Given the description of an element on the screen output the (x, y) to click on. 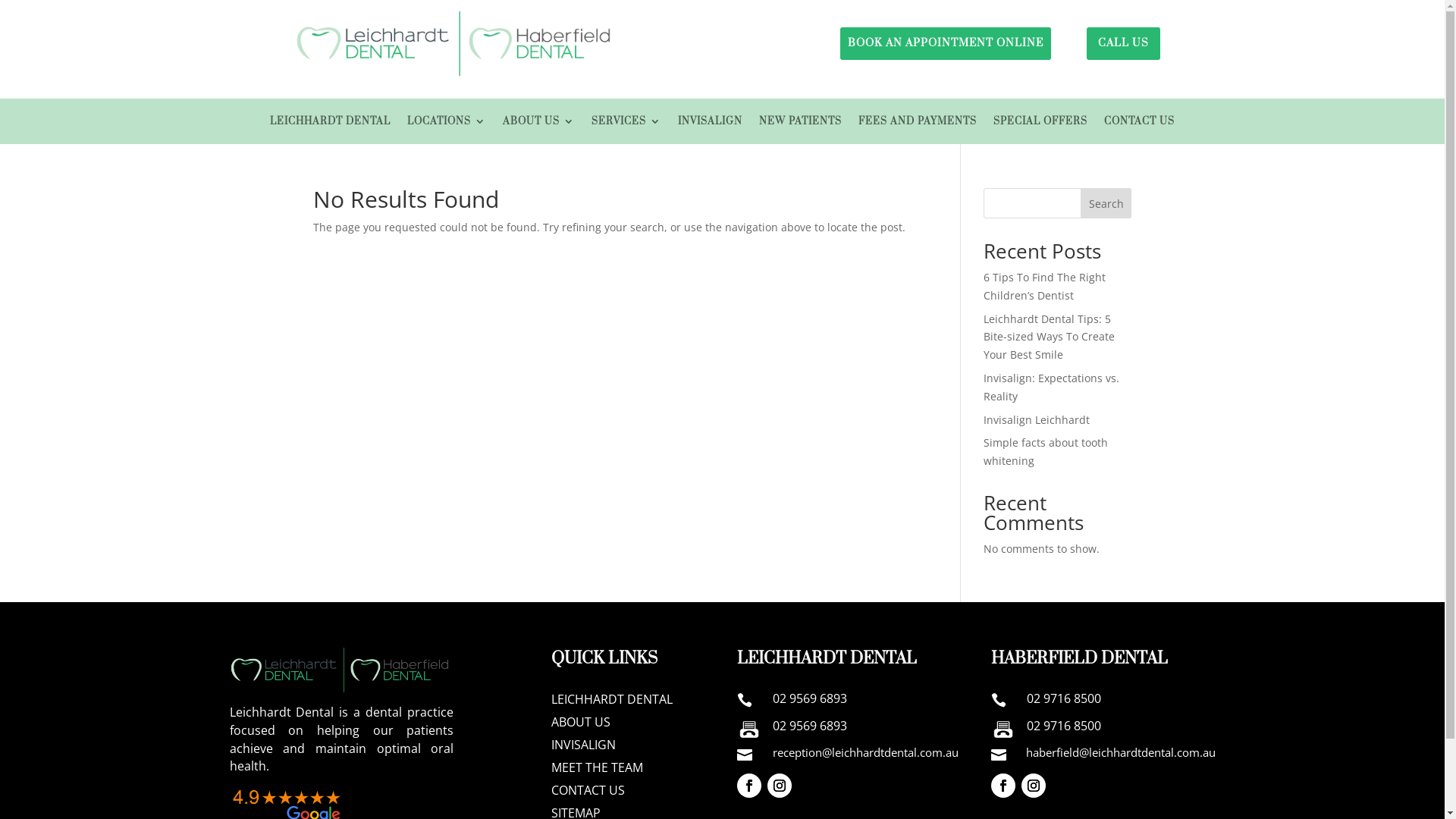
FEES AND PAYMENTS Element type: text (917, 124)
BOOK AN APPOINTMENT ONLINE Element type: text (945, 43)
LOCATIONS Element type: text (446, 124)
ABOUT US Element type: text (538, 124)
Follow on Facebook Element type: hover (1003, 785)
Follow on Facebook Element type: hover (749, 785)
Search Element type: text (1106, 203)
LEICHHARDT DENTAL Element type: text (329, 124)
Invisalign Leichhardt Element type: text (1036, 419)
Invisalign: Expectations vs. Reality Element type: text (1051, 386)
CONTACT US Element type: text (629, 792)
MEET THE TEAM Element type: text (629, 770)
SPECIAL OFFERS Element type: text (1040, 124)
Follow on Instagram Element type: hover (779, 785)
Leichhardt-new-logo-div_1 Element type: hover (341, 669)
CONTACT US Element type: text (1139, 124)
INVISALIGN Element type: text (709, 124)
CALL US Element type: text (1122, 43)
LEICHHARDT DENTAL Element type: text (629, 701)
Simple facts about tooth whitening Element type: text (1045, 451)
SERVICES Element type: text (626, 124)
Follow on Instagram Element type: hover (1033, 785)
NEW PATIENTS Element type: text (800, 124)
INVISALIGN Element type: text (629, 747)
ABOUT US Element type: text (629, 724)
Leichhardt-new-logo-div_1 Element type: hover (455, 43)
